Given the description of an element on the screen output the (x, y) to click on. 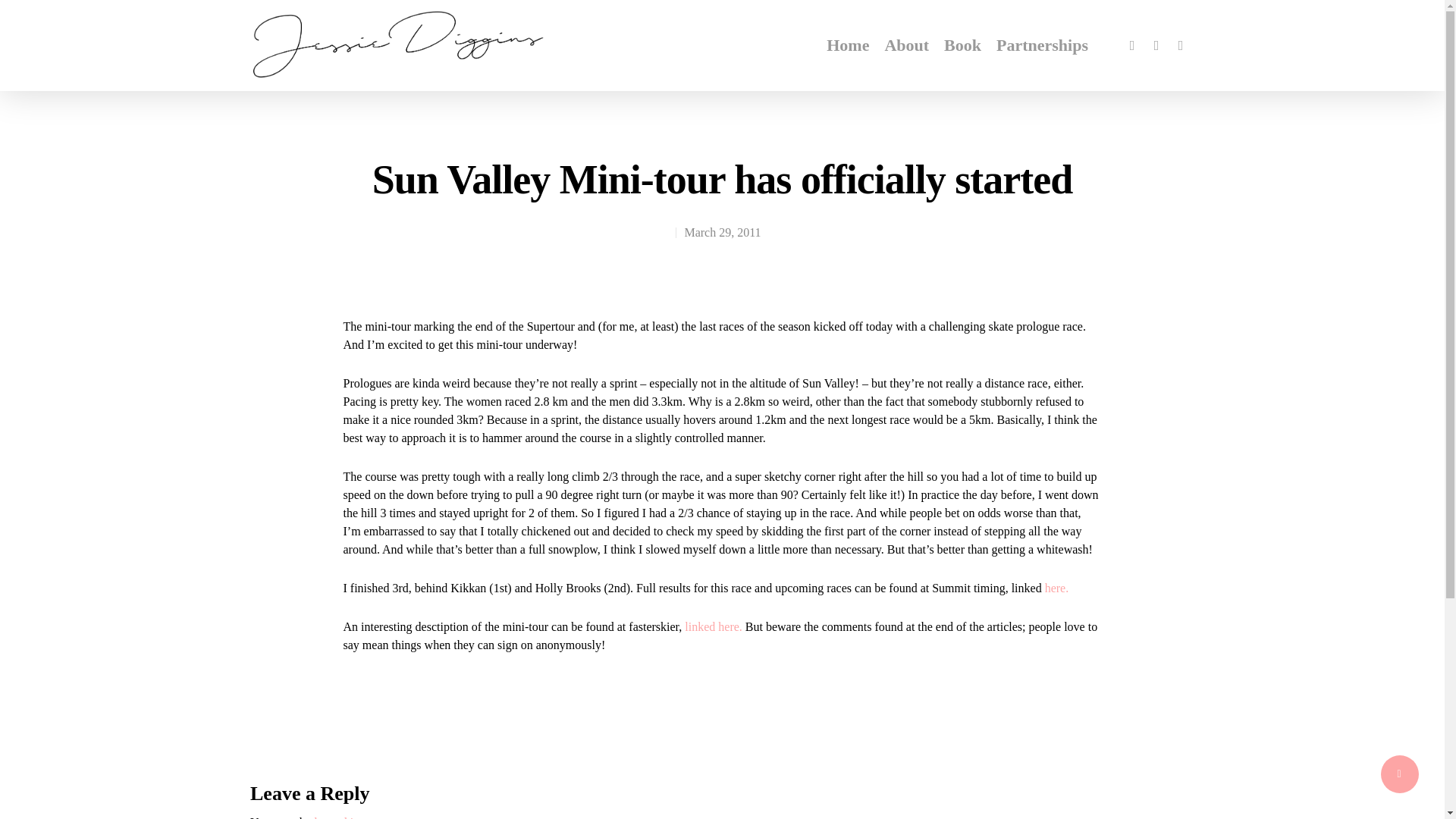
logged in (336, 817)
Home (848, 45)
Partnerships (1041, 45)
Book (962, 45)
About (905, 45)
linked here. (713, 626)
here. (1056, 587)
